Given the description of an element on the screen output the (x, y) to click on. 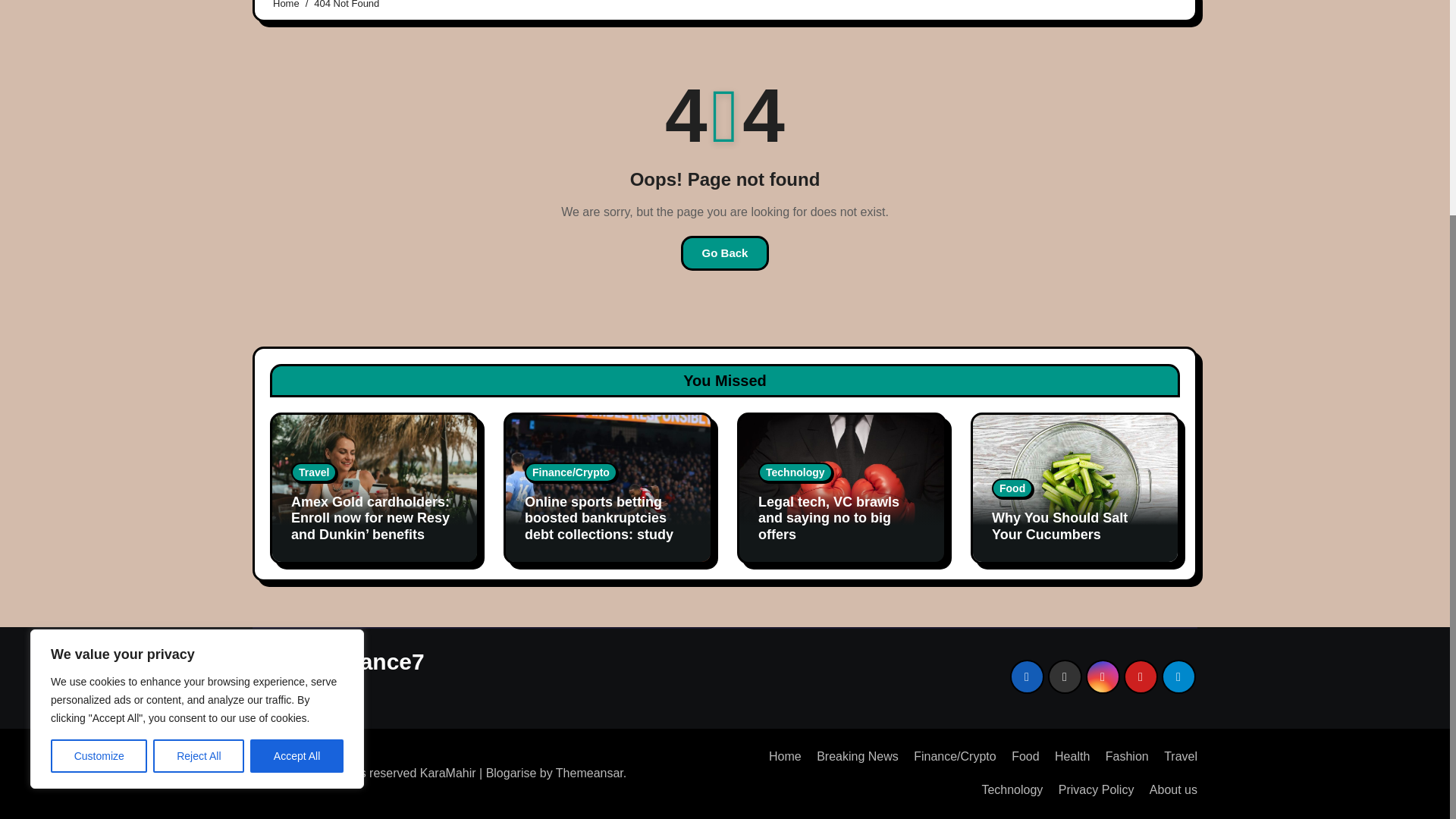
Home (779, 756)
Travel (313, 472)
Go Back (725, 253)
Reject All (198, 463)
Breaking News (851, 756)
Home (286, 4)
Permalink to: Why You Should Salt Your Cucumbers (1058, 526)
Customize (98, 463)
Accept All (296, 463)
